Given the description of an element on the screen output the (x, y) to click on. 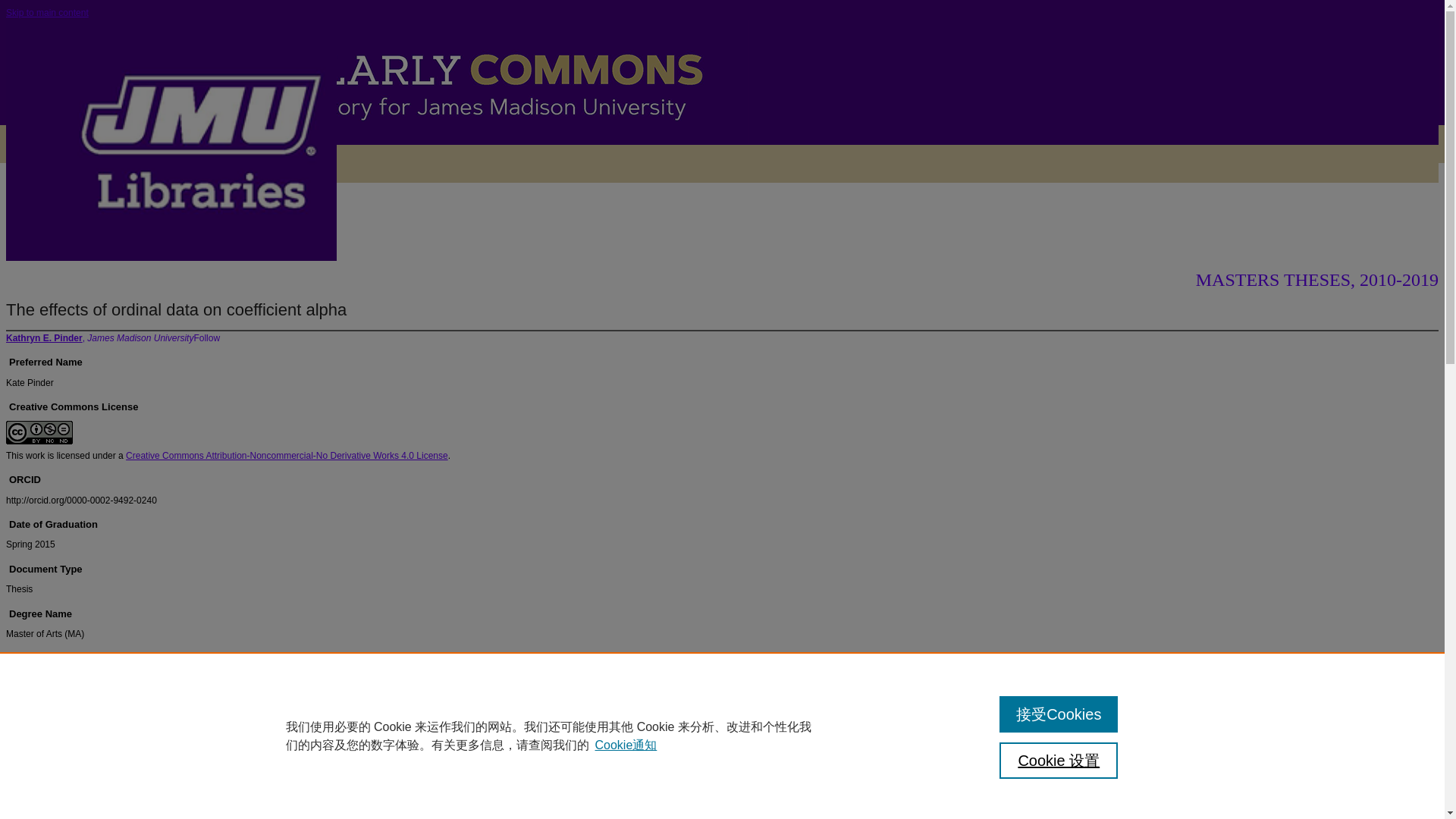
The effects of ordinal data on coefficient alpha (175, 309)
Previous (59, 197)
42 (151, 245)
HOME (35, 163)
MY ACCOUNT (228, 163)
My Account (228, 163)
Home (35, 163)
GRAD (50, 245)
MASTER201019 (105, 245)
FAQ (153, 163)
FAQ (153, 163)
Kathryn E. Pinder, James Madison University (99, 337)
Follow Kathryn E. Pinder (206, 337)
Home (16, 245)
